Given the description of an element on the screen output the (x, y) to click on. 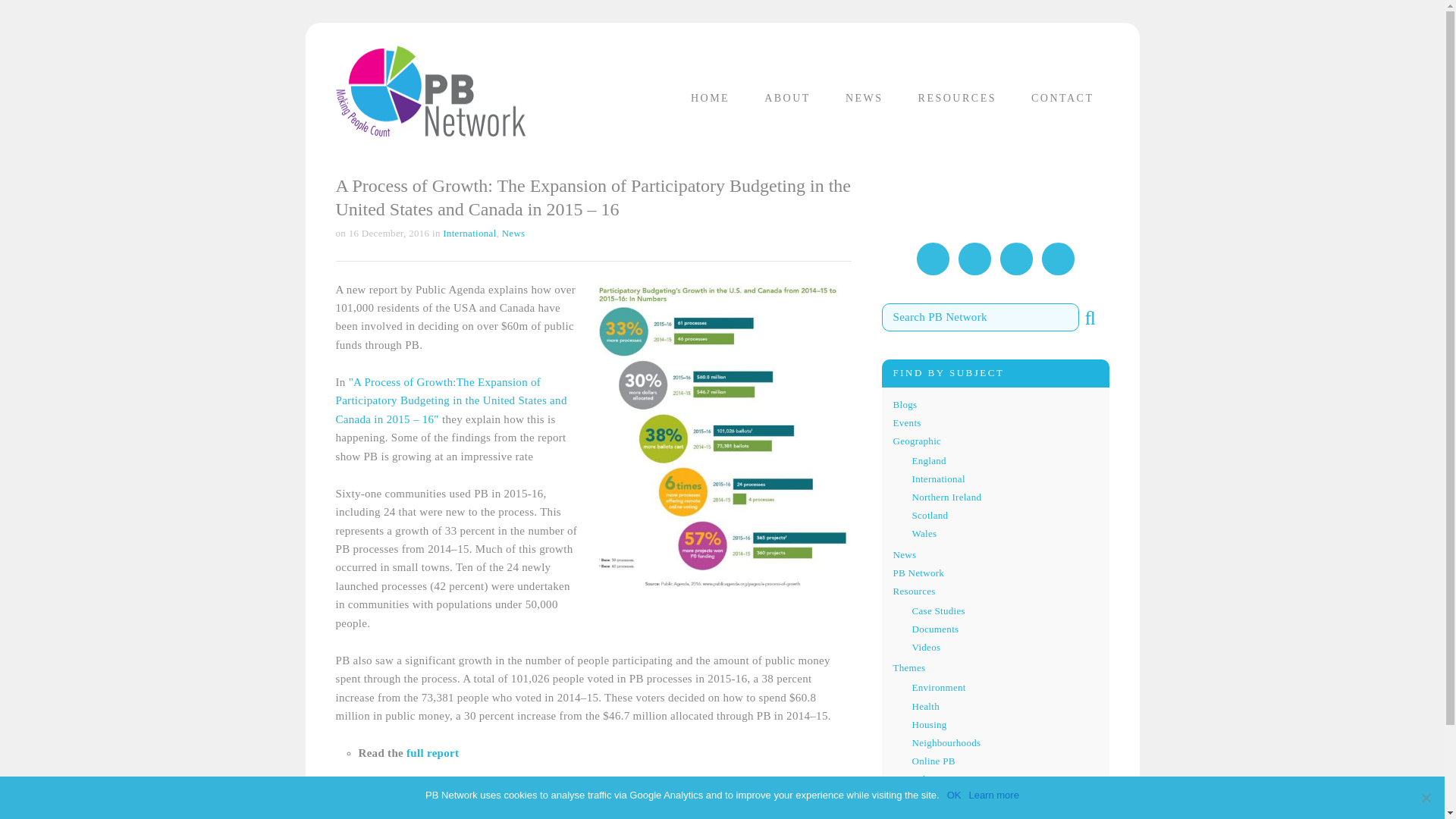
England (927, 460)
RESOURCES (956, 98)
Scotland (929, 514)
Geographic (917, 440)
News (513, 233)
International (937, 478)
Resources (914, 591)
Themes (909, 667)
PB Network (429, 90)
CONTACT (1062, 98)
PB Network (429, 90)
International (469, 233)
ABOUT (787, 98)
News (905, 554)
HOME (709, 98)
